Given the description of an element on the screen output the (x, y) to click on. 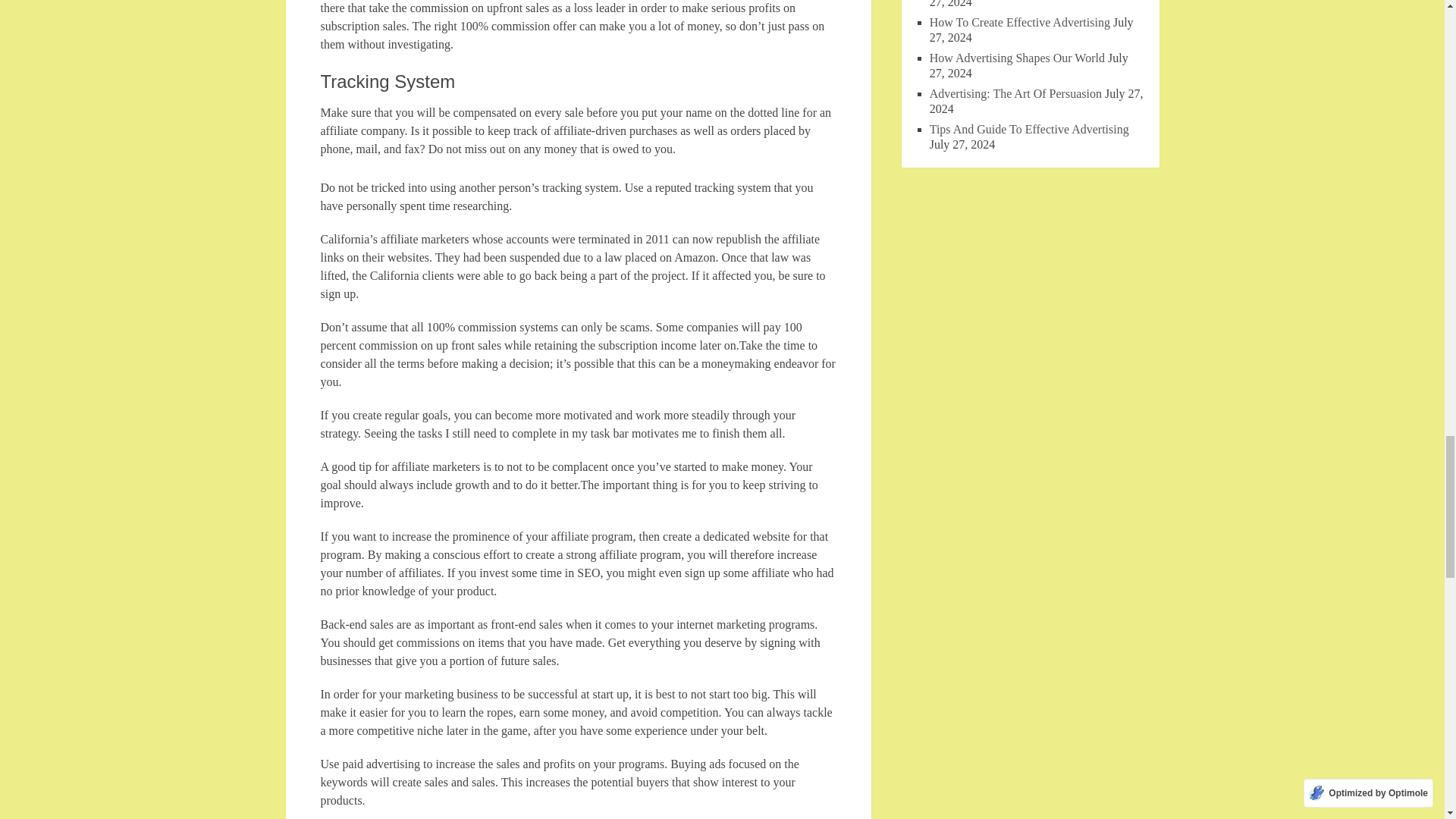
Advertising: The Art Of Persuasion (1016, 92)
Tips And Guide To Effective Advertising (1029, 128)
How To Create Effective Advertising (1019, 21)
How Advertising Shapes Our World (1017, 57)
